Given the description of an element on the screen output the (x, y) to click on. 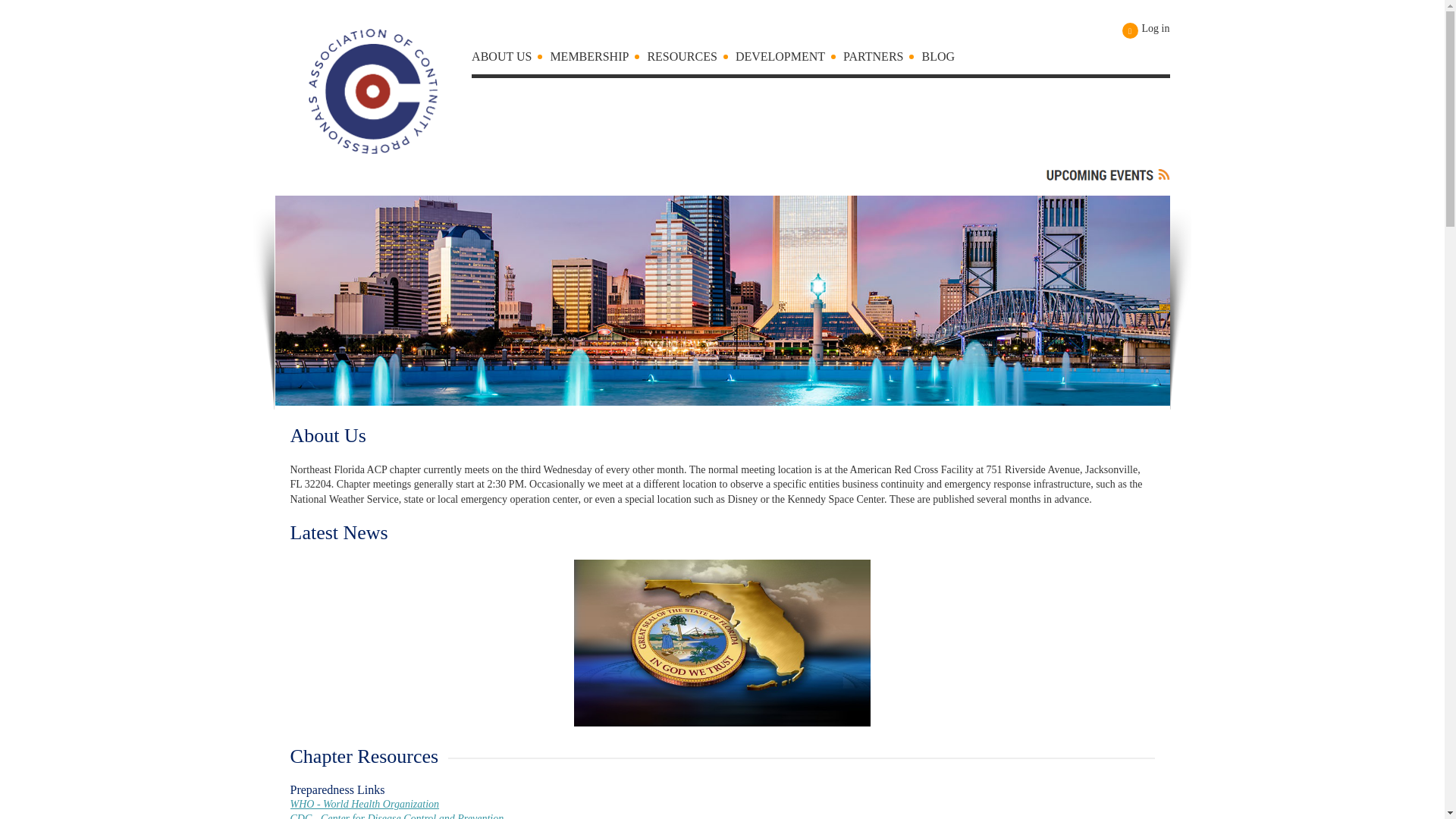
Membership (598, 59)
ABOUT US (510, 59)
About Us (510, 59)
MEMBERSHIP (598, 59)
Log in (1146, 30)
